Given the description of an element on the screen output the (x, y) to click on. 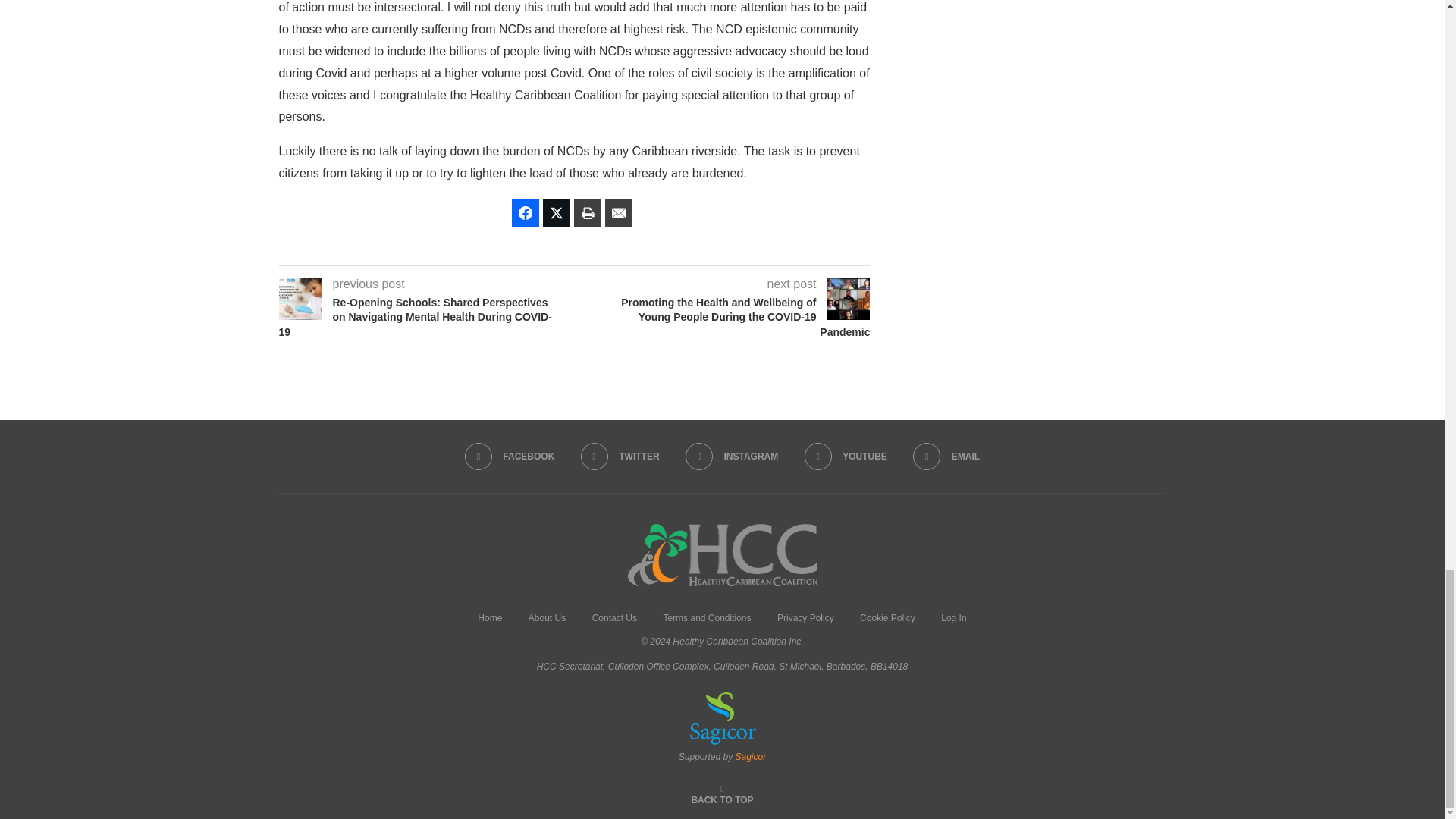
Share on Email (618, 212)
Share on Print (587, 212)
Share on Twitter (556, 212)
Share on Facebook (525, 212)
